Given the description of an element on the screen output the (x, y) to click on. 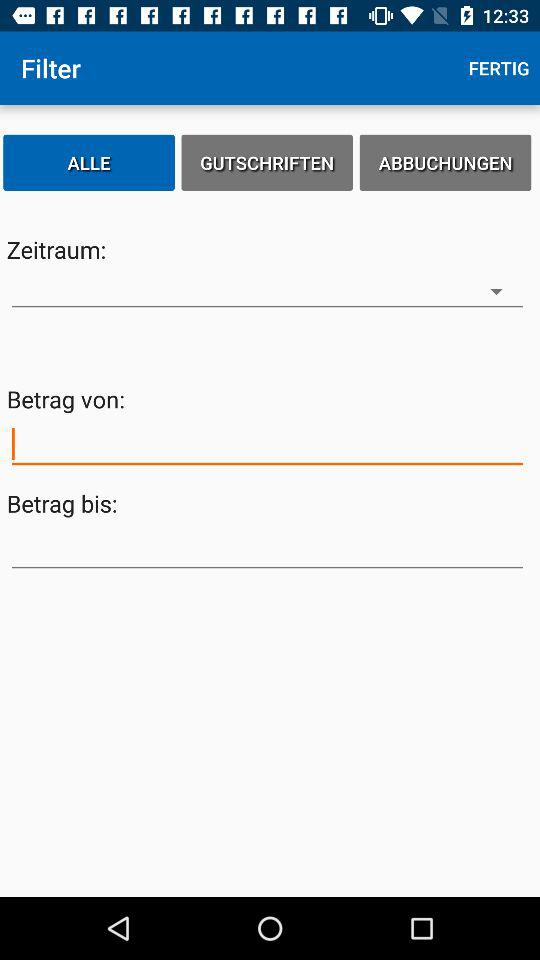
choose alle item (89, 162)
